Given the description of an element on the screen output the (x, y) to click on. 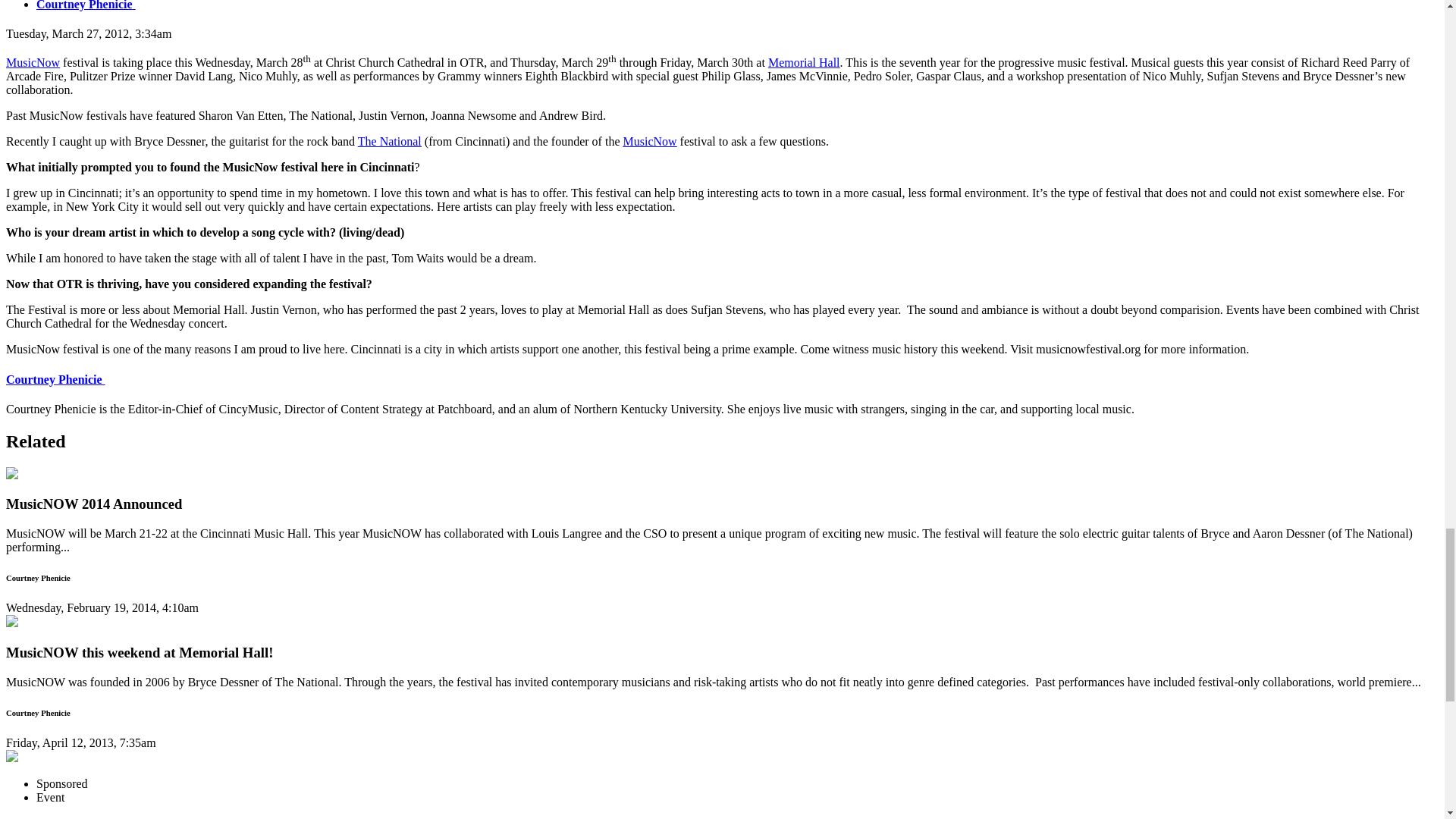
Courtney Phenicie  (54, 379)
Courtney Phenicie  (85, 5)
The National (390, 141)
Memorial Hall (804, 62)
MusicNow (650, 141)
MusicNow (32, 62)
